Given the description of an element on the screen output the (x, y) to click on. 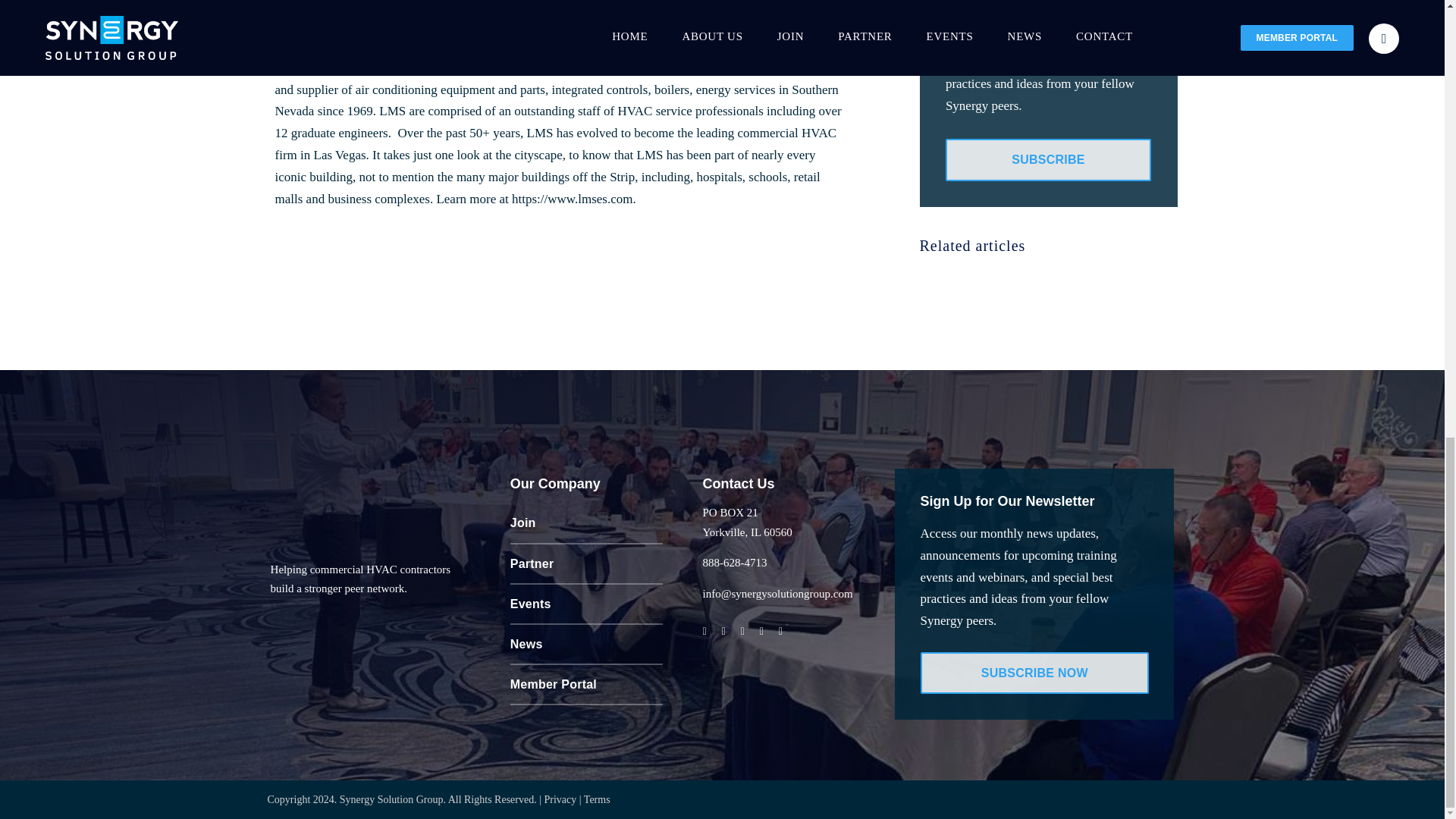
Join (587, 523)
Vital Mechanical Service (668, 4)
Storer Services (630, 23)
SUBSCRIBE NOW (1035, 672)
News (587, 644)
Member Portal (587, 685)
Events (587, 604)
Partner (587, 564)
IMCOR (465, 4)
